Given the description of an element on the screen output the (x, y) to click on. 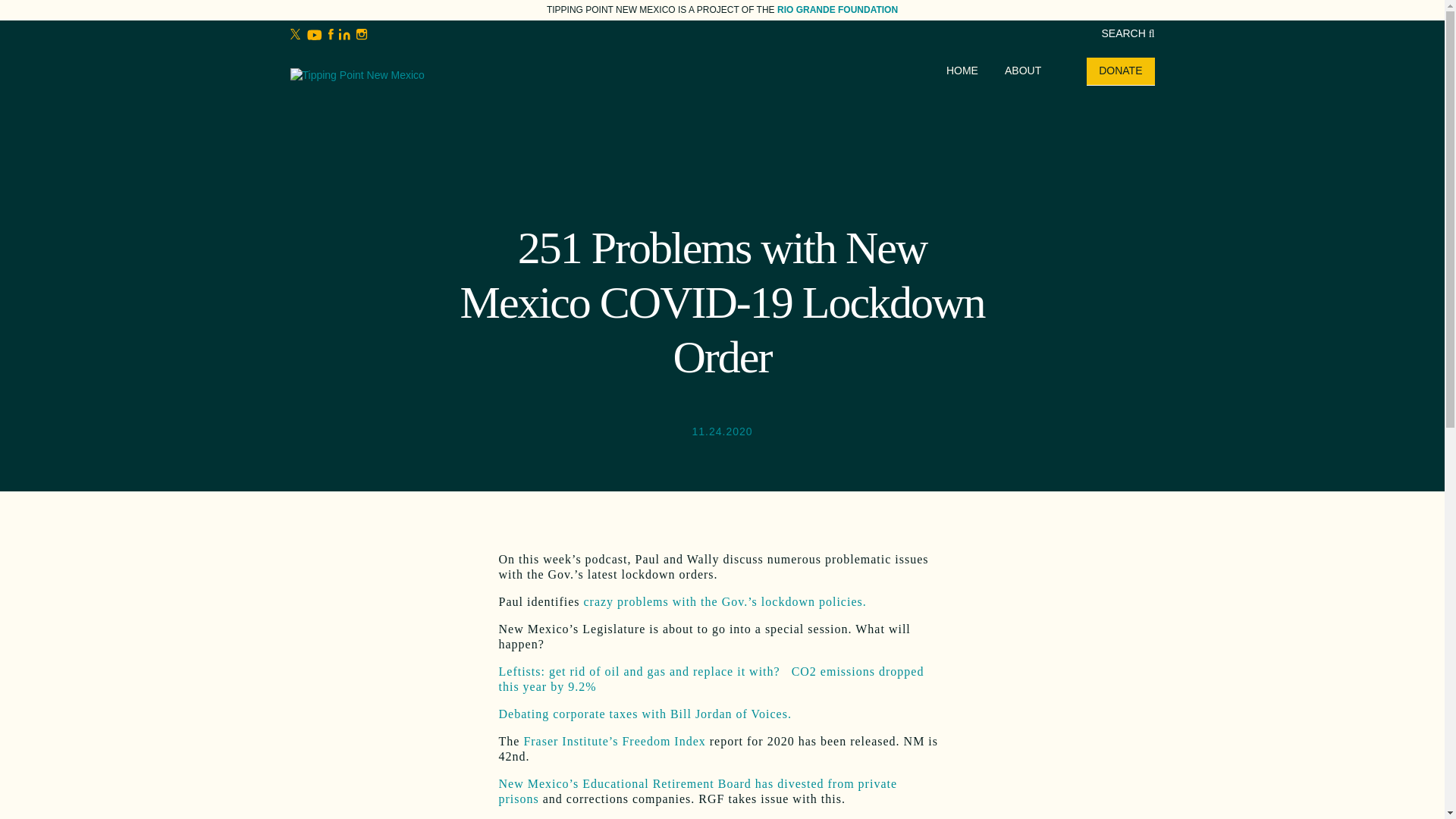
HOME (962, 70)
RIO GRANDE FOUNDATION (837, 9)
SEARCH (1127, 33)
DONATE (1120, 70)
Debating corporate taxes with Bill Jordan of Voices.  (646, 713)
Leftists: get rid of oil and gas and replace it with?  (641, 671)
ABOUT (1022, 70)
